Given the description of an element on the screen output the (x, y) to click on. 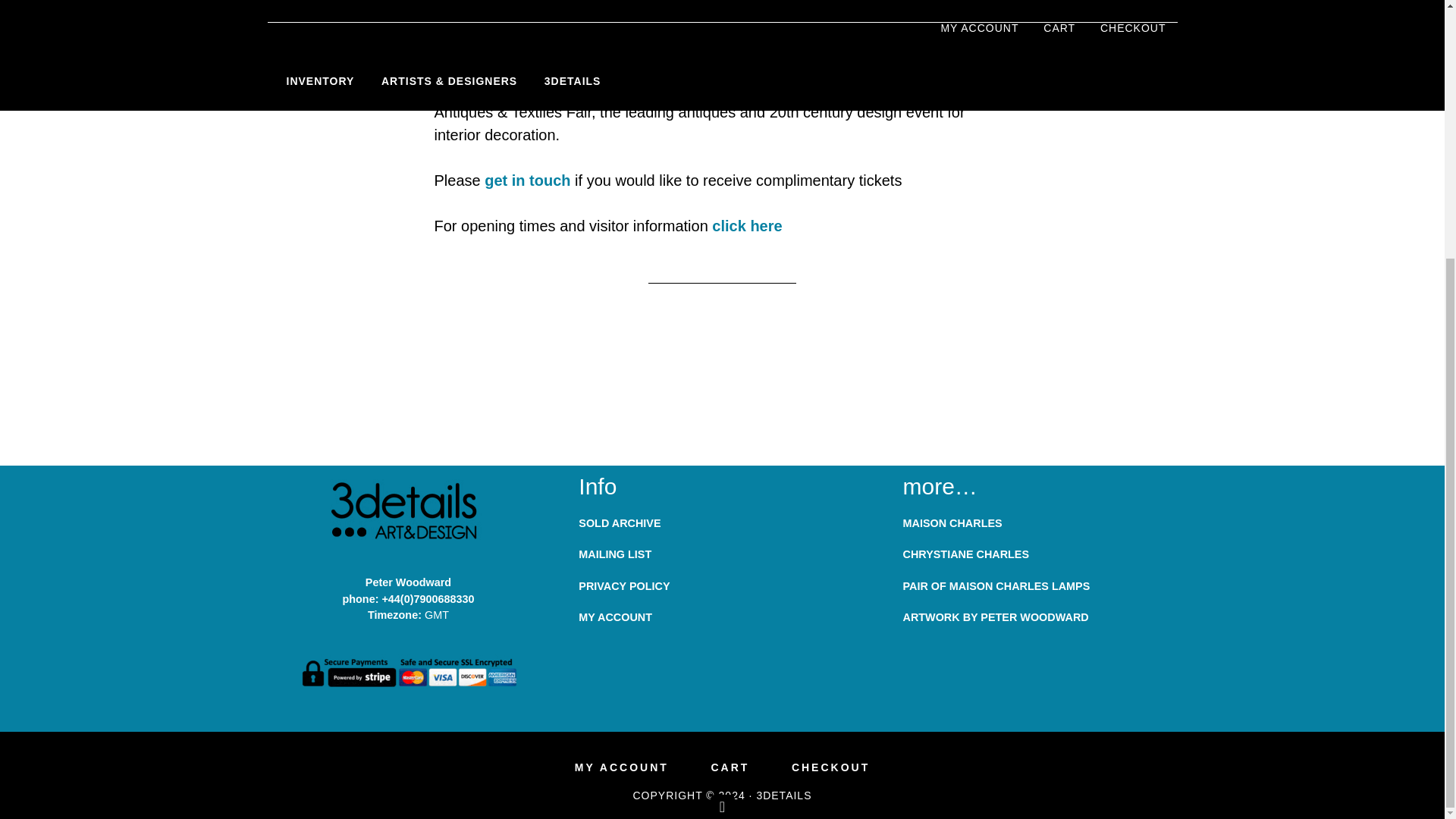
find a Pair of Maison Charles Lamps (995, 585)
Maison Charles (951, 522)
Add yourself to the mailing list at 3details (614, 553)
visit the decorative fair website (746, 225)
contact (527, 180)
Chrystaine Charles (965, 553)
